Given the description of an element on the screen output the (x, y) to click on. 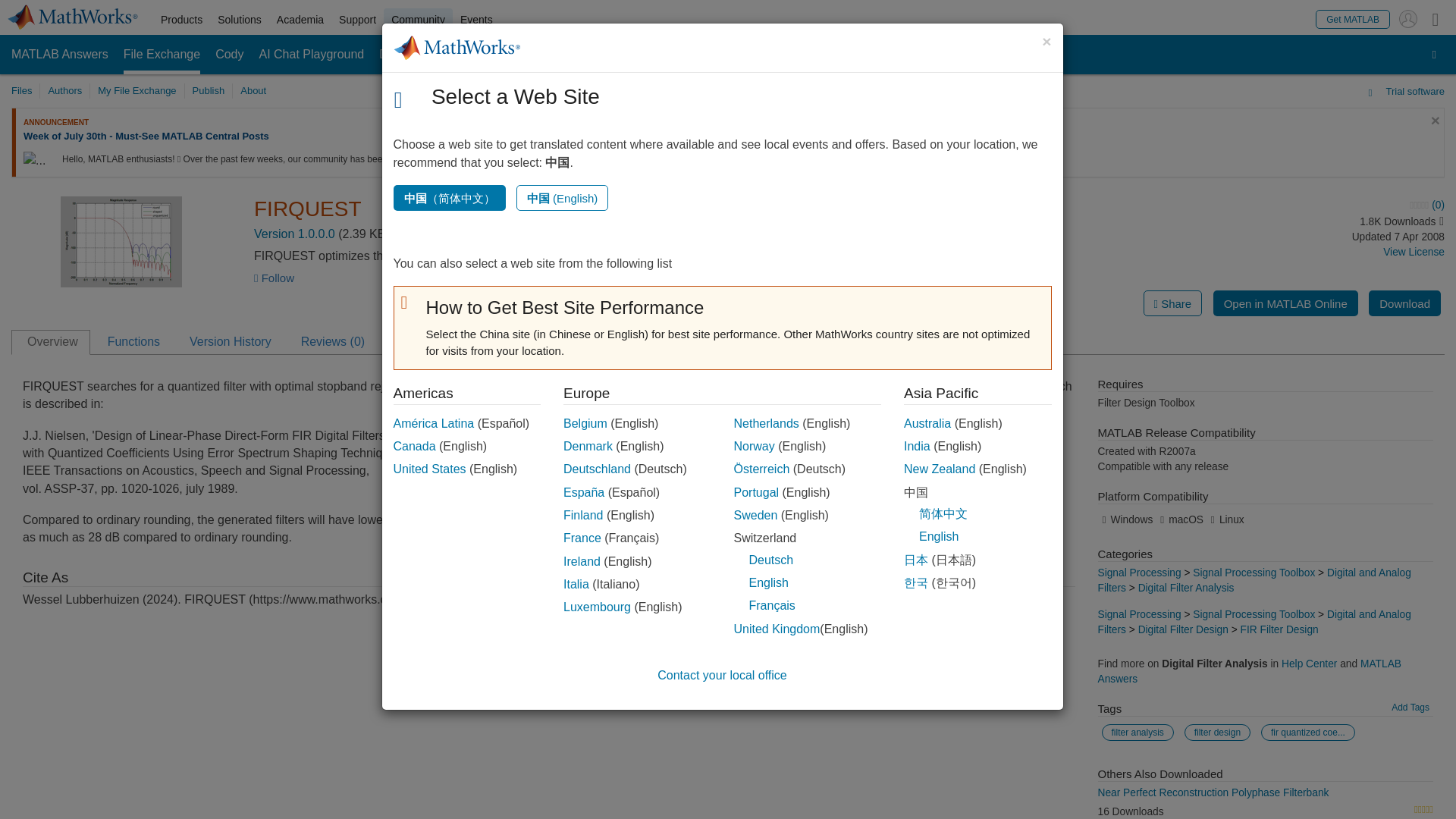
Sign In to Your MathWorks Account (1407, 18)
Download (1404, 303)
Academia (300, 19)
Products (180, 19)
Support (357, 19)
Community (418, 19)
Events (476, 19)
Solutions (239, 19)
0.00 out of 5 stars (1303, 205)
Get MATLAB (1353, 18)
4.80 out of 5 stars (1422, 809)
